Given the description of an element on the screen output the (x, y) to click on. 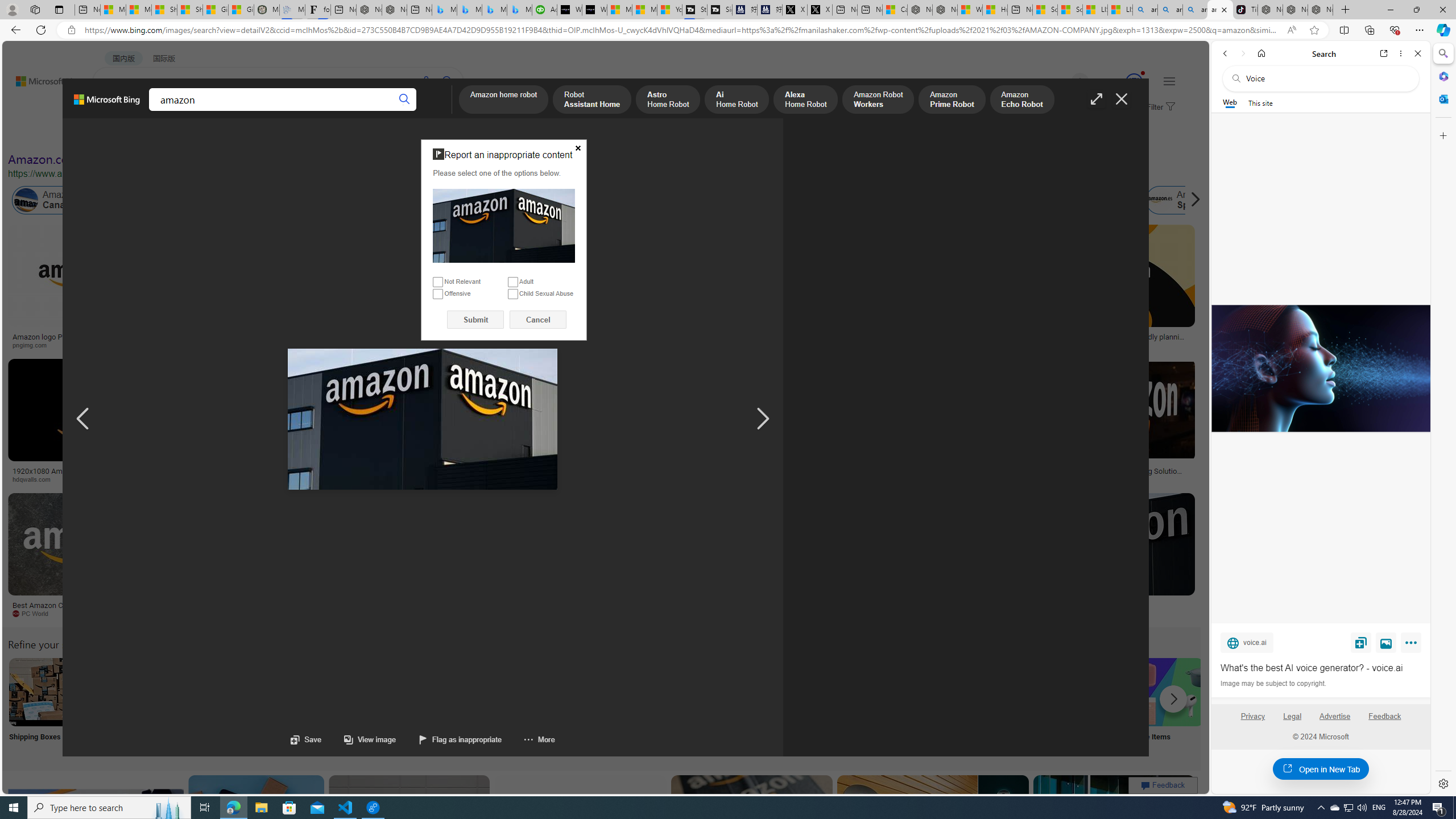
IMAGES (156, 112)
Amazon Shipping Boxes (42, 691)
pngimg.com (34, 344)
Amazon Wish List (568, 691)
thewrap.com (470, 612)
Amazon Echo Dot 4th Gen (673, 264)
Amazon Visa Card Login Visa Card Login (1093, 706)
Save (1361, 642)
Microsoft Bing Travel - Shangri-La Hotel Bangkok (519, 9)
Eugene (1063, 81)
logopng.com.br (783, 344)
Microsoft Rewards 135 (1120, 81)
